Given the description of an element on the screen output the (x, y) to click on. 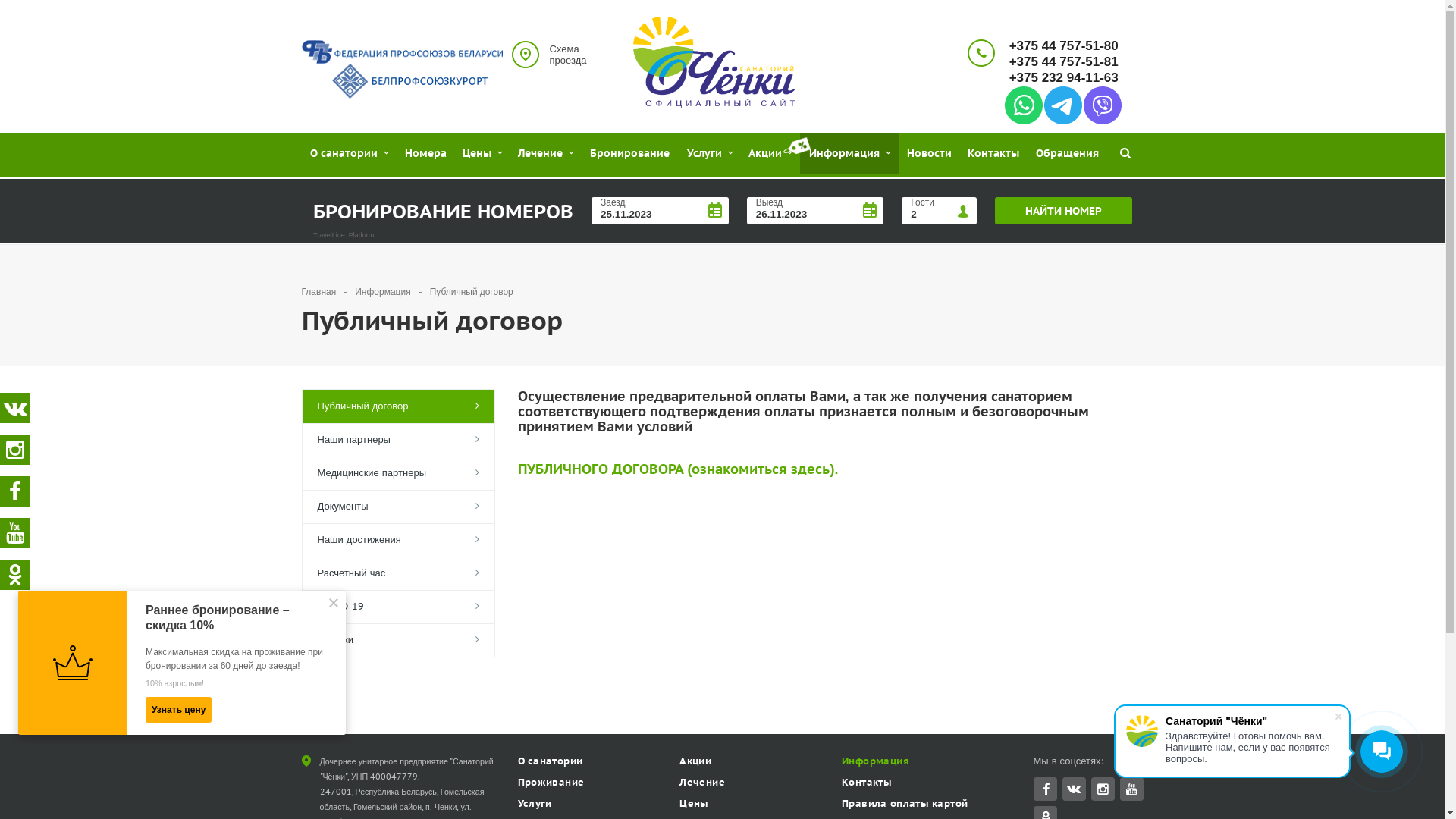
Instagram Element type: text (1101, 788)
+375 44 757-51-80  Element type: text (1063, 45)
bpk.png Element type: hover (409, 80)
Telegram Element type: hover (1062, 105)
Whatsapp Element type: hover (1022, 105)
COVID-19 Element type: text (397, 606)
Facebook Element type: text (1044, 788)
YouTube Element type: text (1130, 788)
+375 232 94-11-63  Element type: text (1063, 77)
+375 44 757-51-81  Element type: text (1063, 61)
Viber Element type: hover (1101, 105)
